Given the description of an element on the screen output the (x, y) to click on. 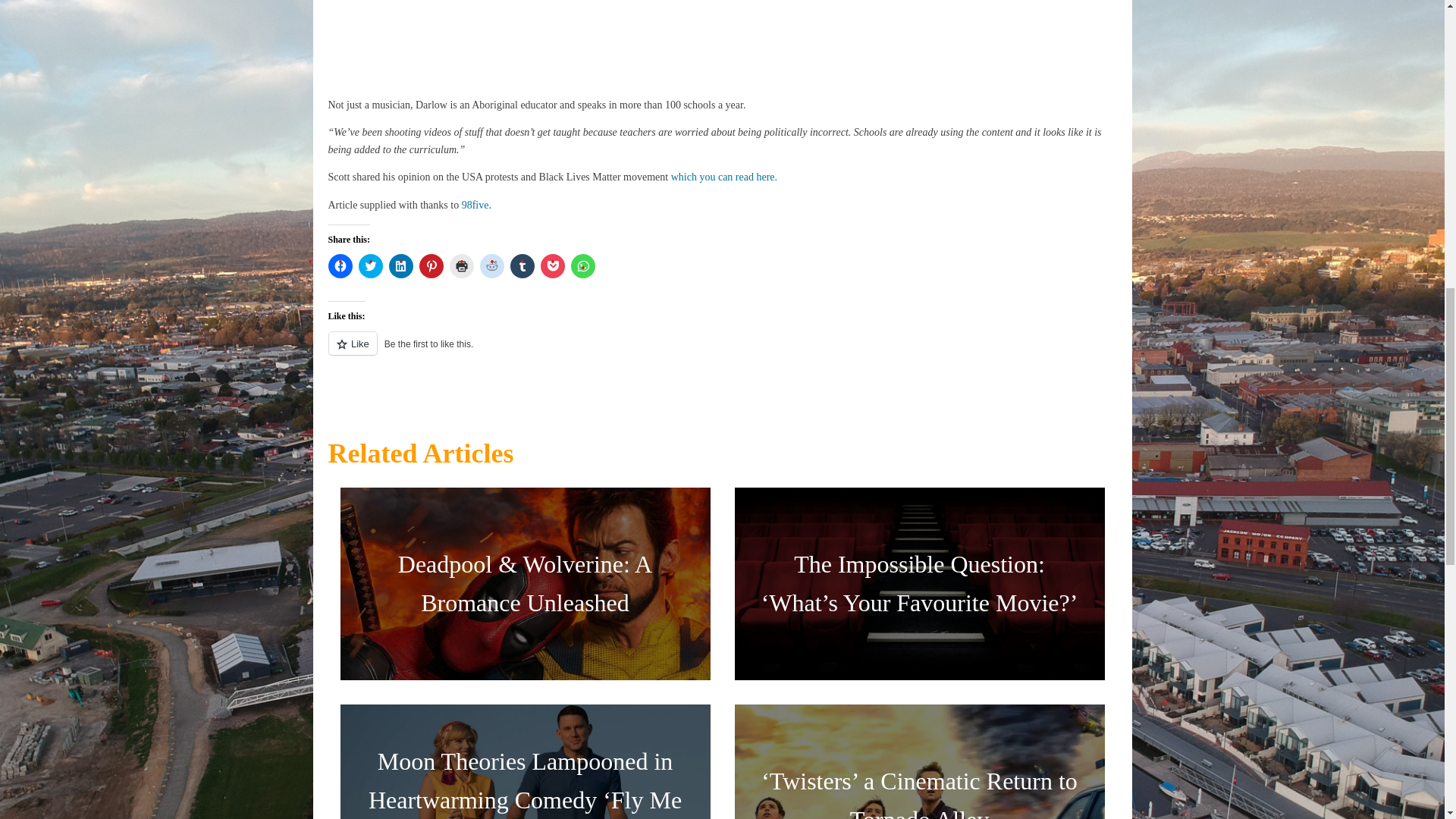
Click to share on WhatsApp (582, 265)
Click to share on LinkedIn (400, 265)
Click to share on Facebook (339, 265)
Click to share on Pinterest (430, 265)
Click to share on Twitter (369, 265)
Click to share on Reddit (491, 265)
Click to share on Tumblr (521, 265)
Like or Reblog (721, 352)
Click to share on Pocket (552, 265)
Click to print (460, 265)
